Given the description of an element on the screen output the (x, y) to click on. 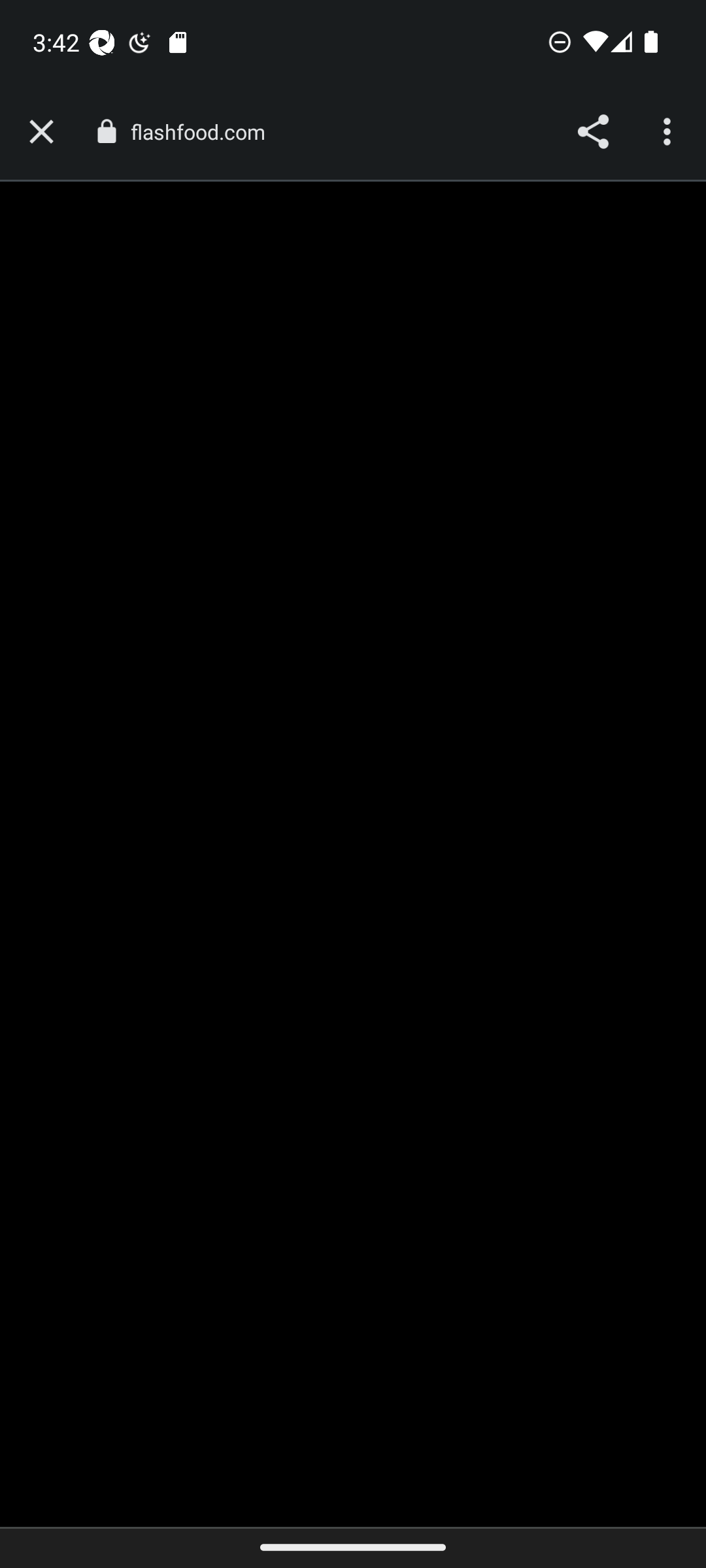
Close tab (41, 131)
Share (592, 131)
More options (669, 131)
Connection is secure (106, 131)
flashfood.com (204, 131)
